Given the description of an element on the screen output the (x, y) to click on. 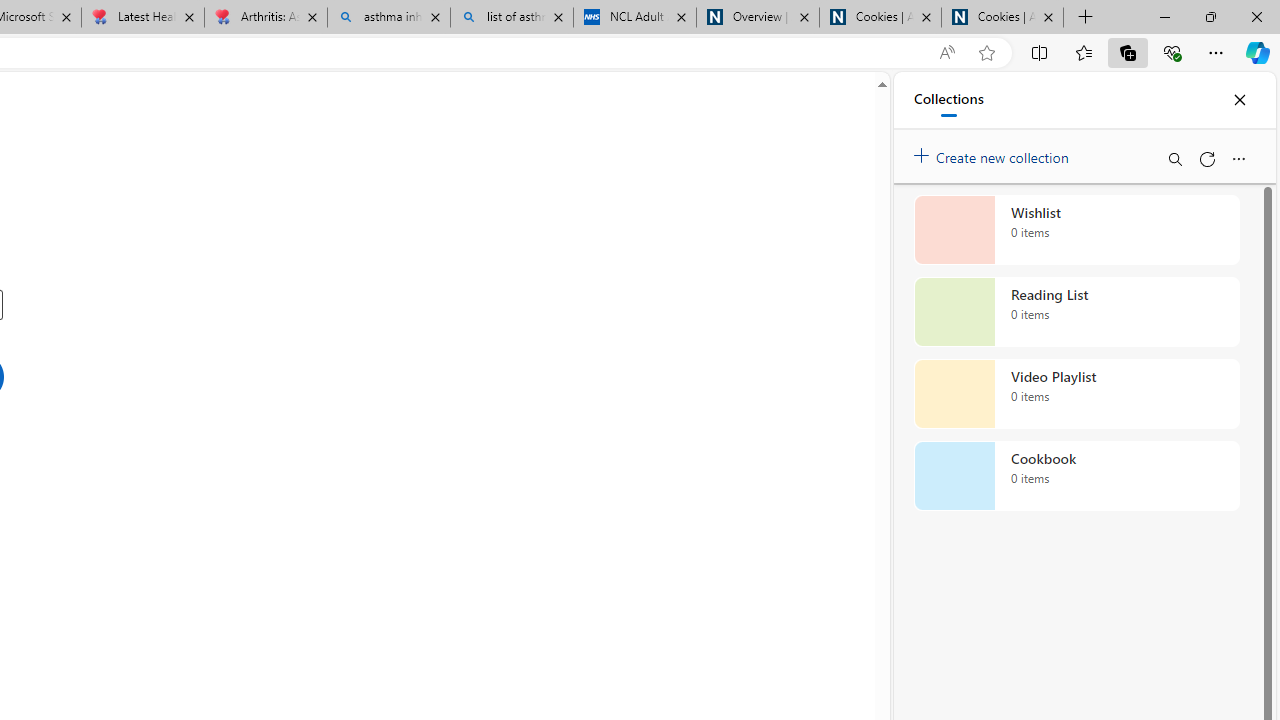
Cookbook collection, 0 items (1076, 475)
Wishlist collection, 0 items (1076, 229)
asthma inhaler - Search (388, 17)
Video Playlist collection, 0 items (1076, 394)
Reading List collection, 0 items (1076, 312)
Create new collection (994, 153)
